Given the description of an element on the screen output the (x, y) to click on. 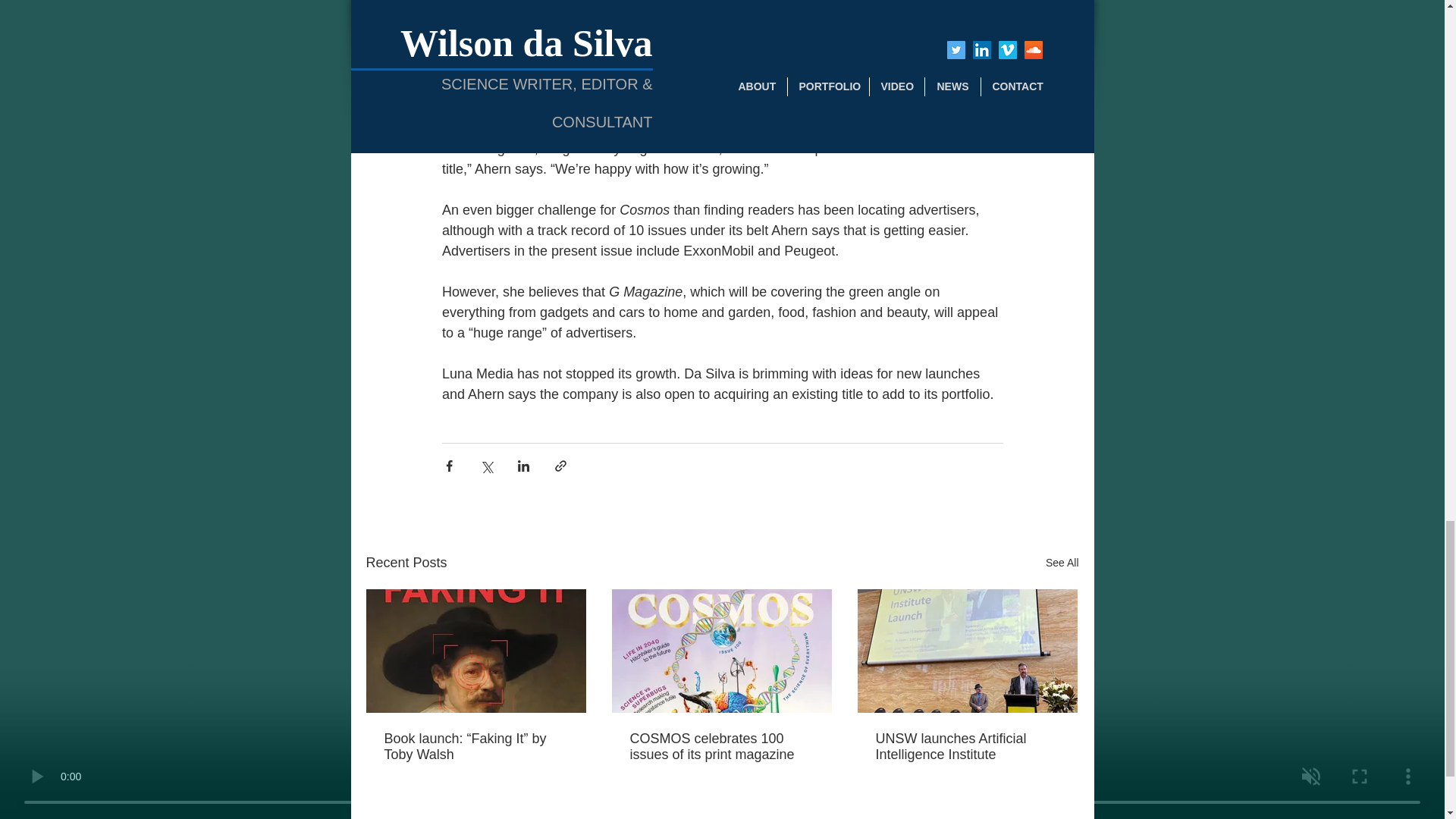
COSMOS celebrates 100 issues of its print magazine (720, 746)
UNSW launches Artificial Intelligence Institute (966, 746)
See All (1061, 563)
